Given the description of an element on the screen output the (x, y) to click on. 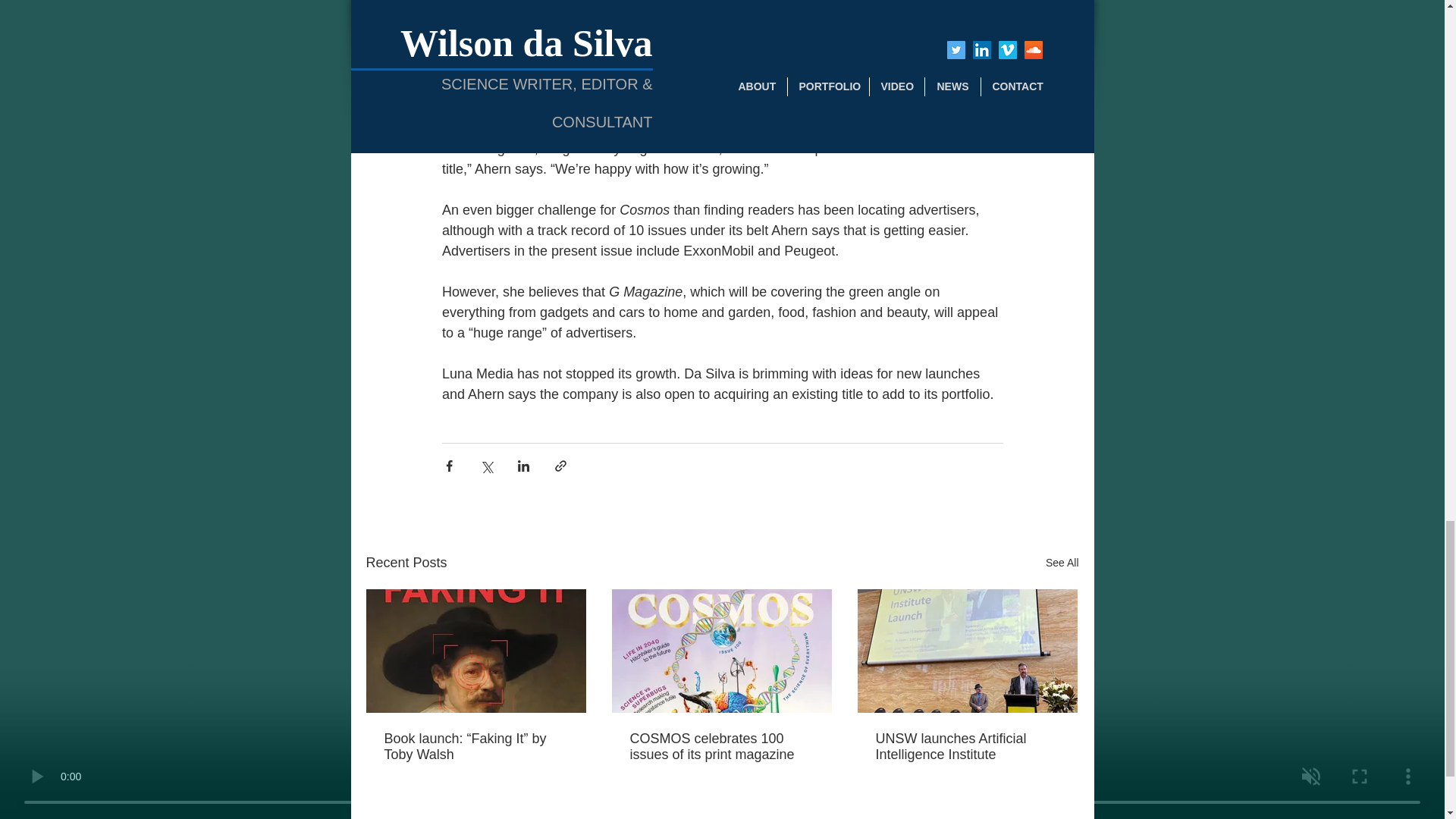
COSMOS celebrates 100 issues of its print magazine (720, 746)
UNSW launches Artificial Intelligence Institute (966, 746)
See All (1061, 563)
